Given the description of an element on the screen output the (x, y) to click on. 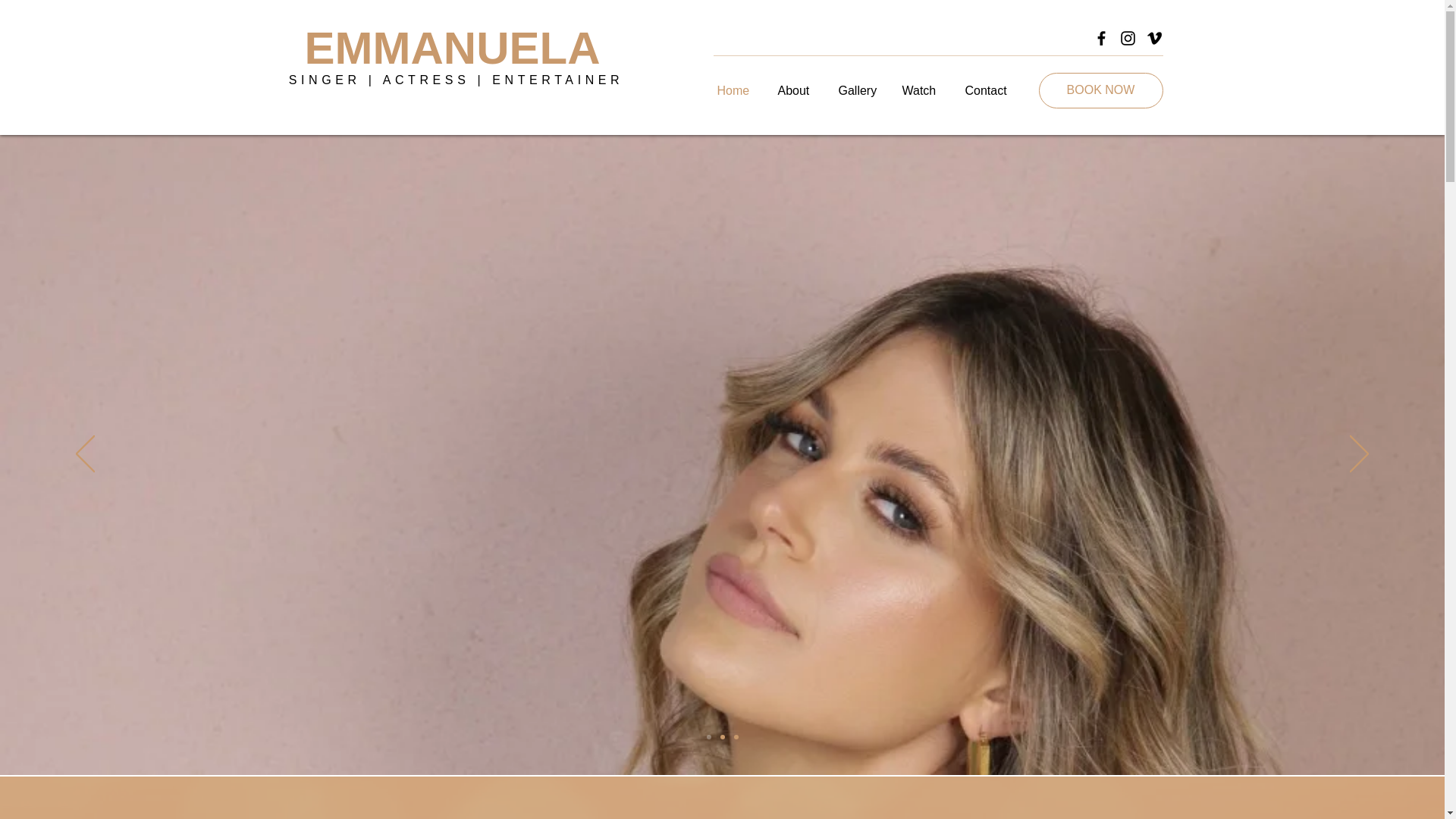
Gallery (858, 90)
Contact (989, 90)
Home (734, 90)
BOOK NOW (1101, 90)
Watch (921, 90)
EMMANUELA (451, 47)
About (796, 90)
